Given the description of an element on the screen output the (x, y) to click on. 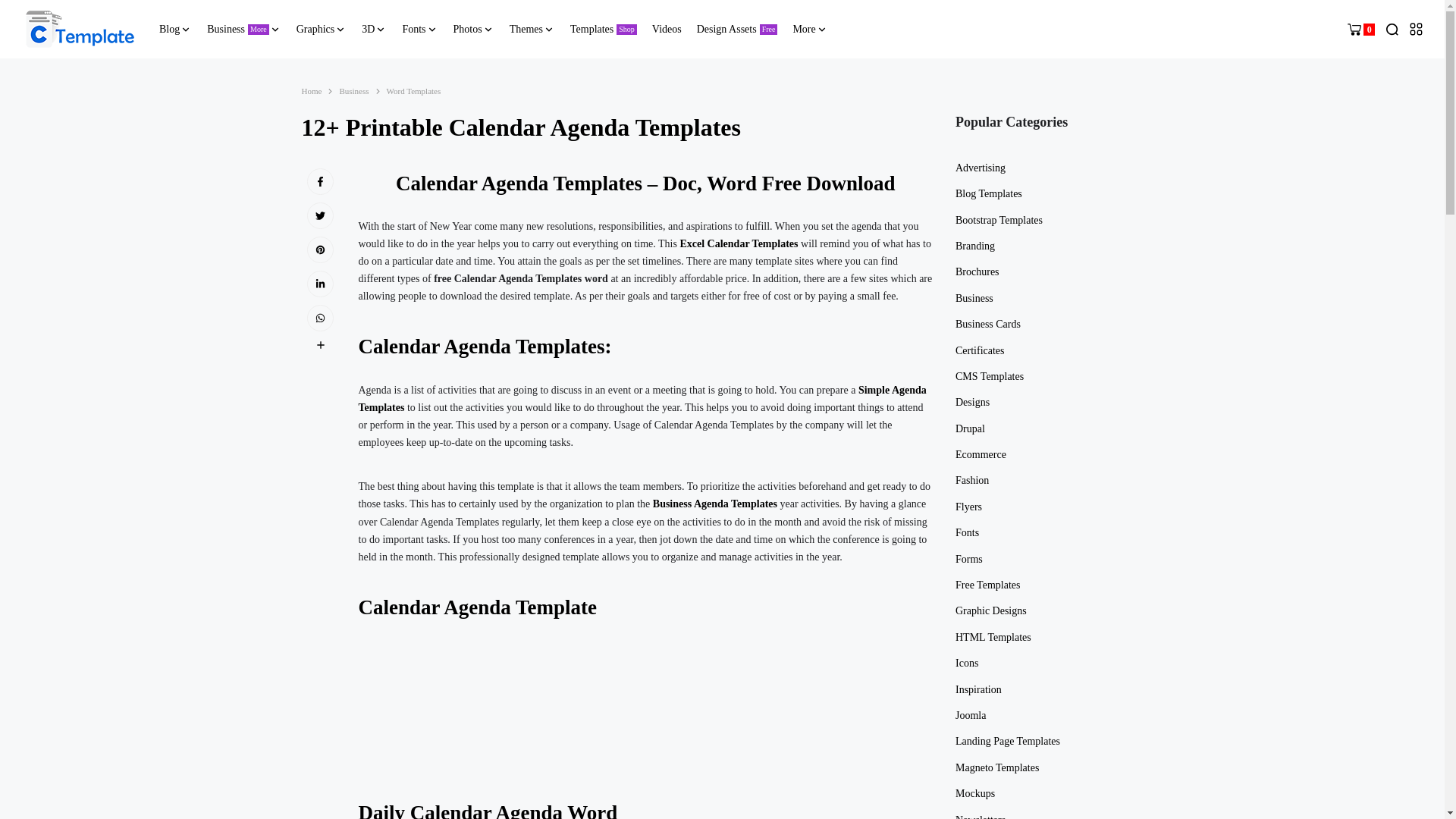
Cart (1360, 28)
CreativeTemplate (243, 29)
